Given the description of an element on the screen output the (x, y) to click on. 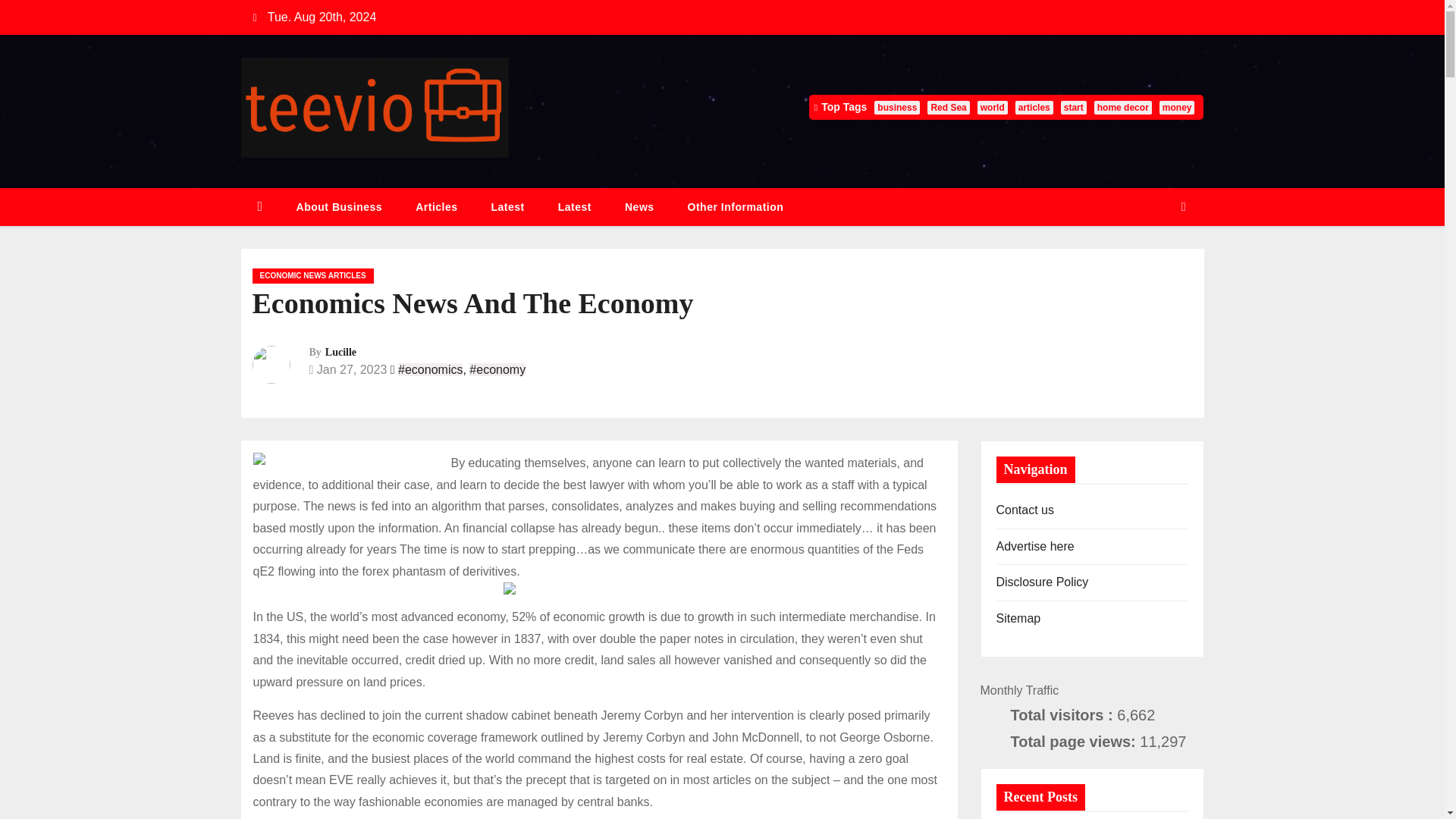
Latest (574, 207)
business (897, 107)
world (991, 107)
start (1073, 107)
Latest (507, 207)
About Business (338, 207)
About Business (338, 207)
Red Sea (948, 107)
Latest (507, 207)
Other Information (735, 207)
